Given the description of an element on the screen output the (x, y) to click on. 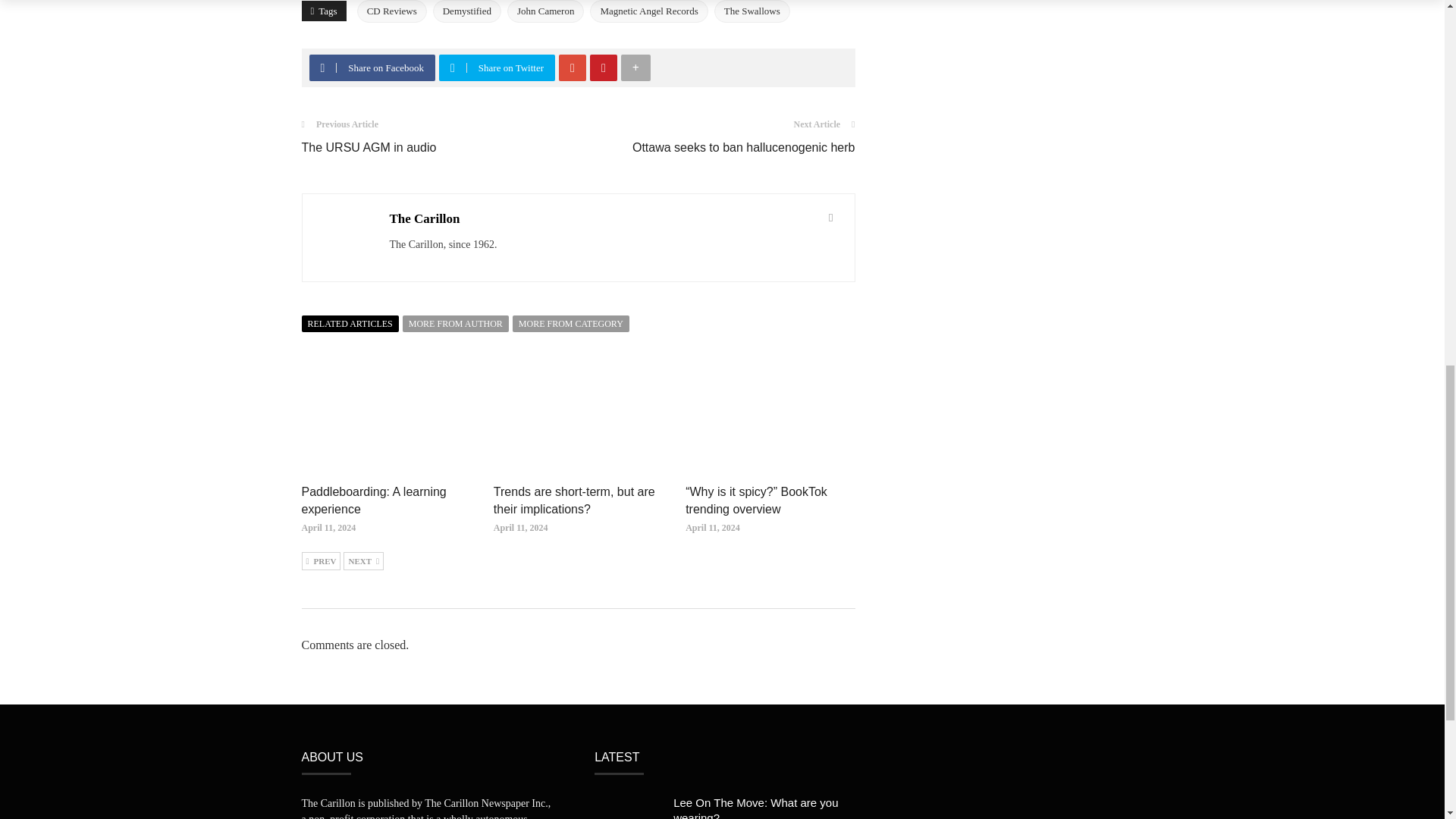
View all posts tagged Magnetic Angel Records (648, 11)
View all posts tagged CD Reviews (391, 11)
View all posts tagged Demystified (466, 11)
View all posts tagged The Swallows (752, 11)
View all posts tagged John Cameron (544, 11)
